Given the description of an element on the screen output the (x, y) to click on. 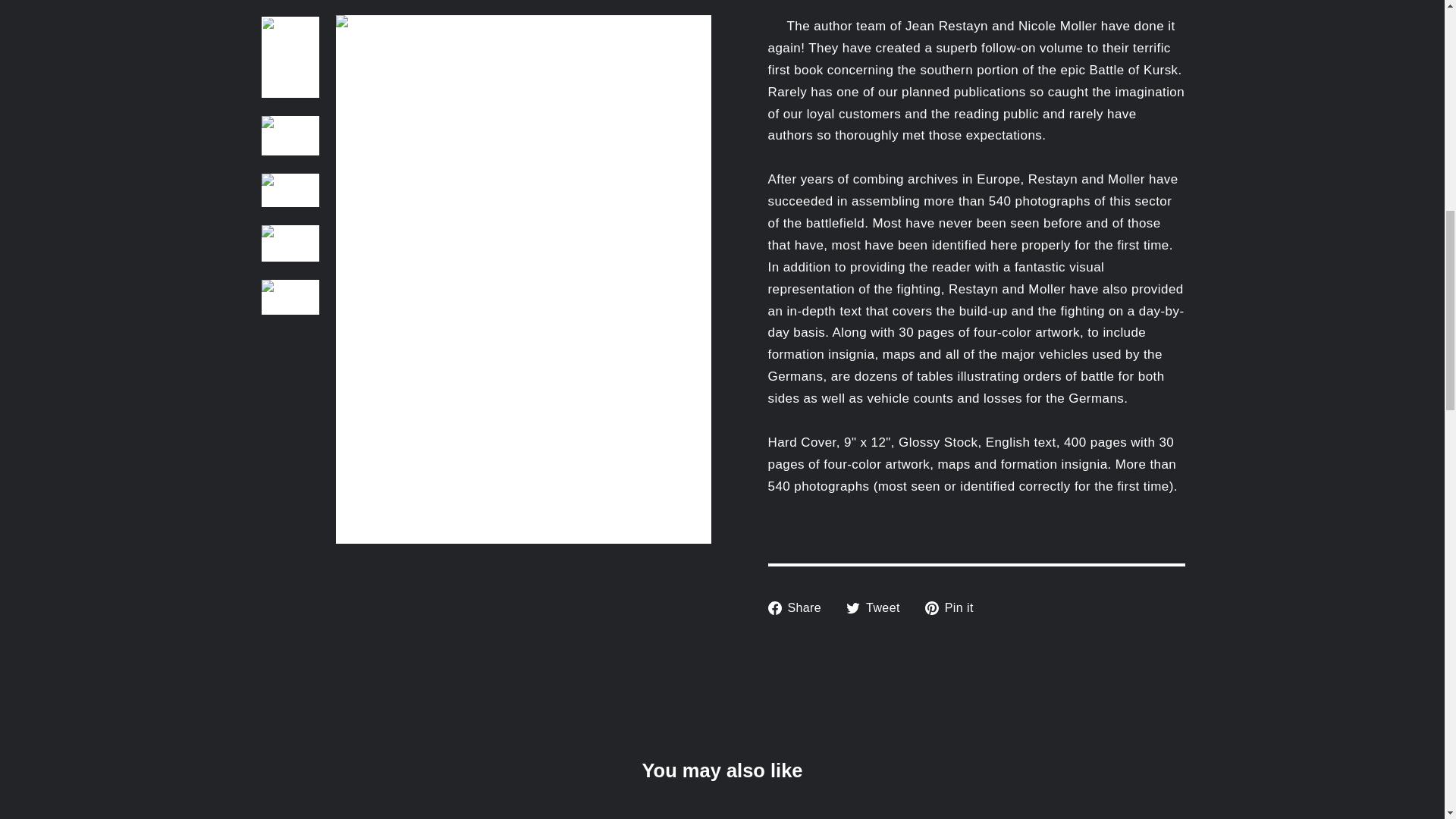
Tweet on Twitter (878, 607)
Pin on Pinterest (954, 607)
Share on Facebook (799, 607)
